Given the description of an element on the screen output the (x, y) to click on. 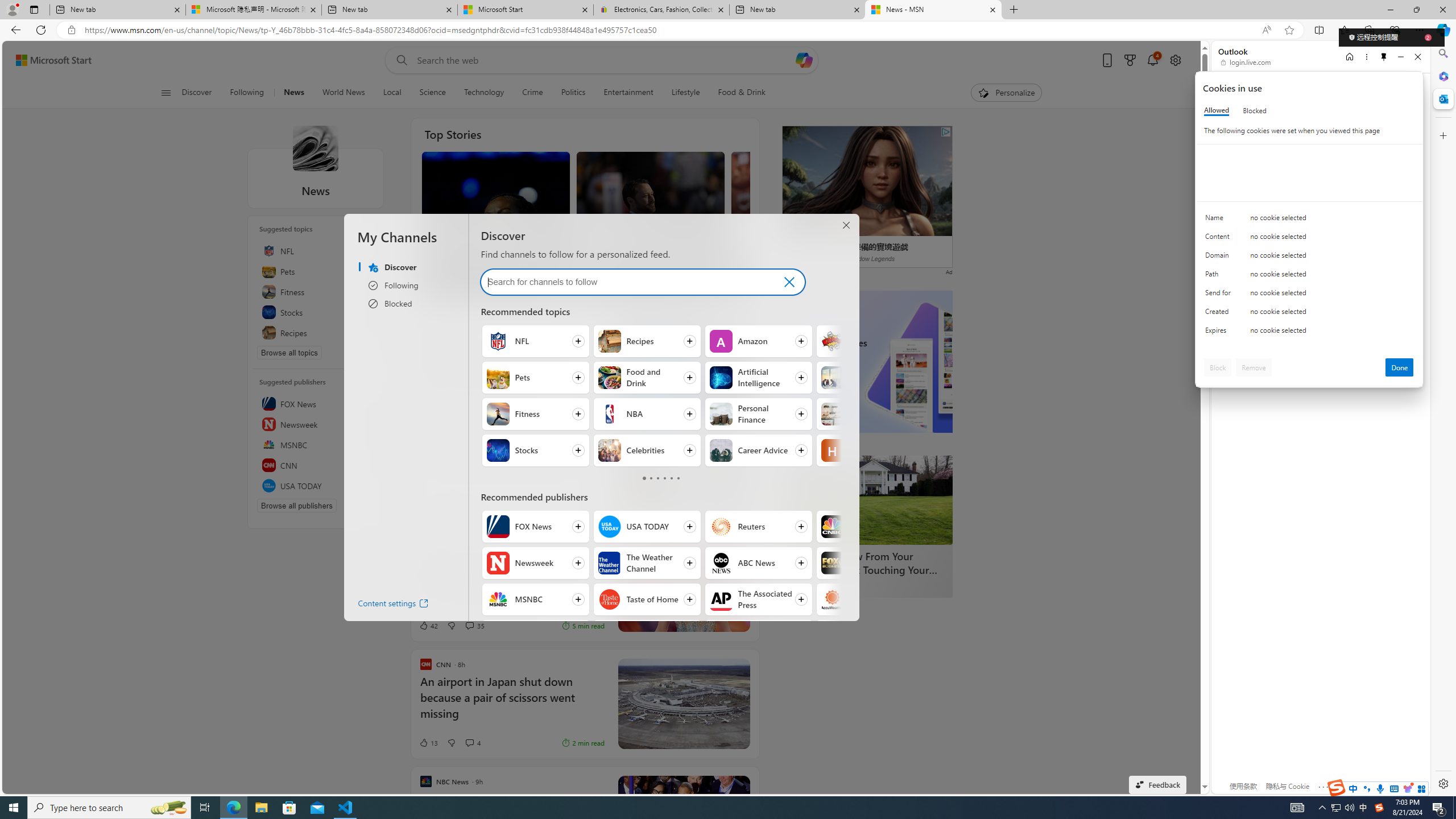
Follow this source (367, 486)
Taste of Home (609, 599)
Follow this topic (367, 333)
NFL (315, 250)
Technology (483, 92)
FOX News (315, 403)
New tab (797, 9)
Dislike (451, 742)
Close tab (992, 9)
Blocked (1255, 110)
Newsweek (315, 424)
Class: button-glyph (165, 92)
Lifestyle (685, 92)
